Given the description of an element on the screen output the (x, y) to click on. 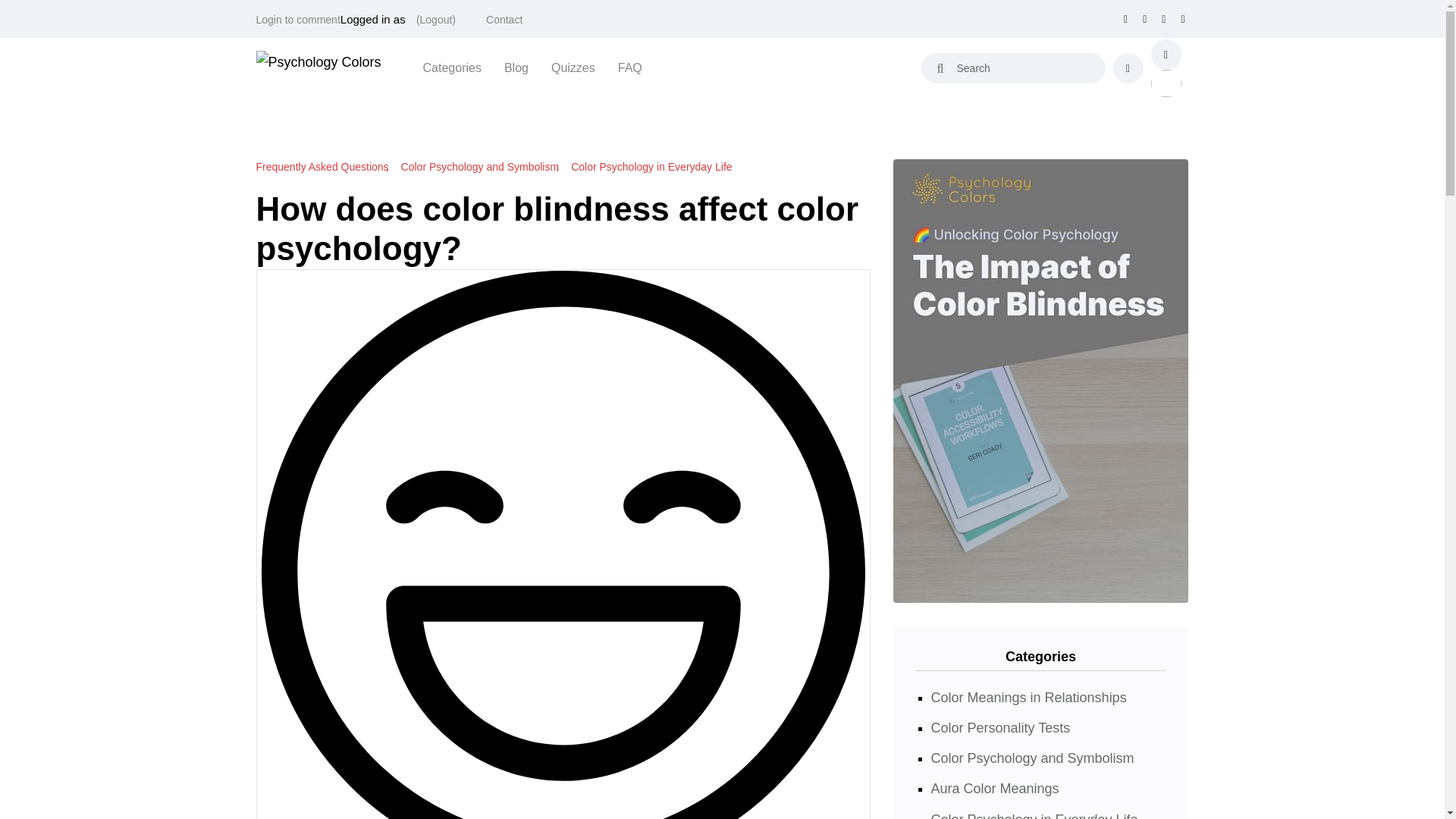
Login to comment (298, 19)
Contact (504, 19)
Categories (452, 67)
